Given the description of an element on the screen output the (x, y) to click on. 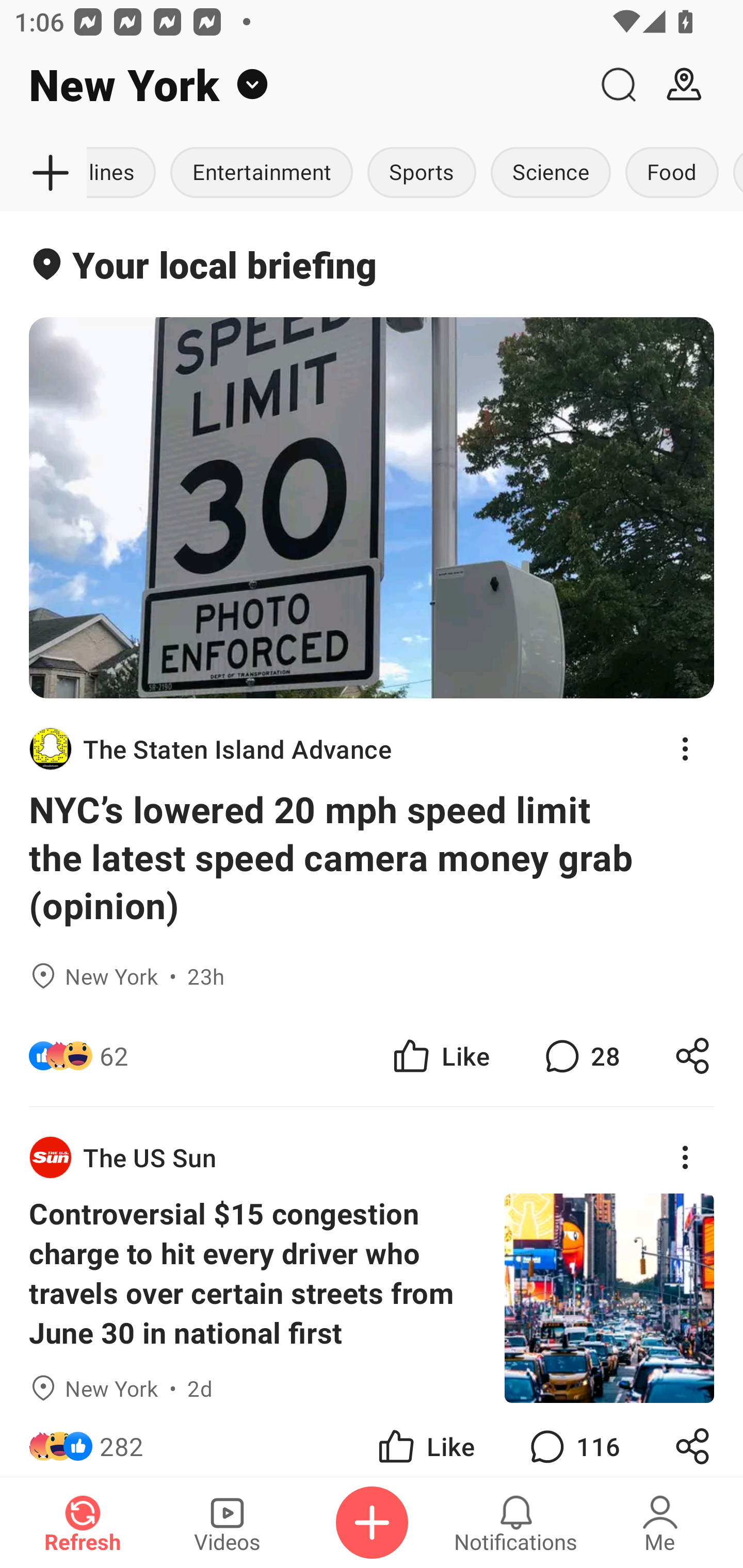
New York (292, 84)
Headlines (124, 172)
Entertainment (261, 172)
Sports (421, 172)
Science (550, 172)
Food (671, 172)
62 (113, 1055)
Like (439, 1055)
28 (579, 1055)
282 (121, 1440)
Like (425, 1440)
116 (572, 1440)
Videos (227, 1522)
Notifications (516, 1522)
Me (659, 1522)
